Given the description of an element on the screen output the (x, y) to click on. 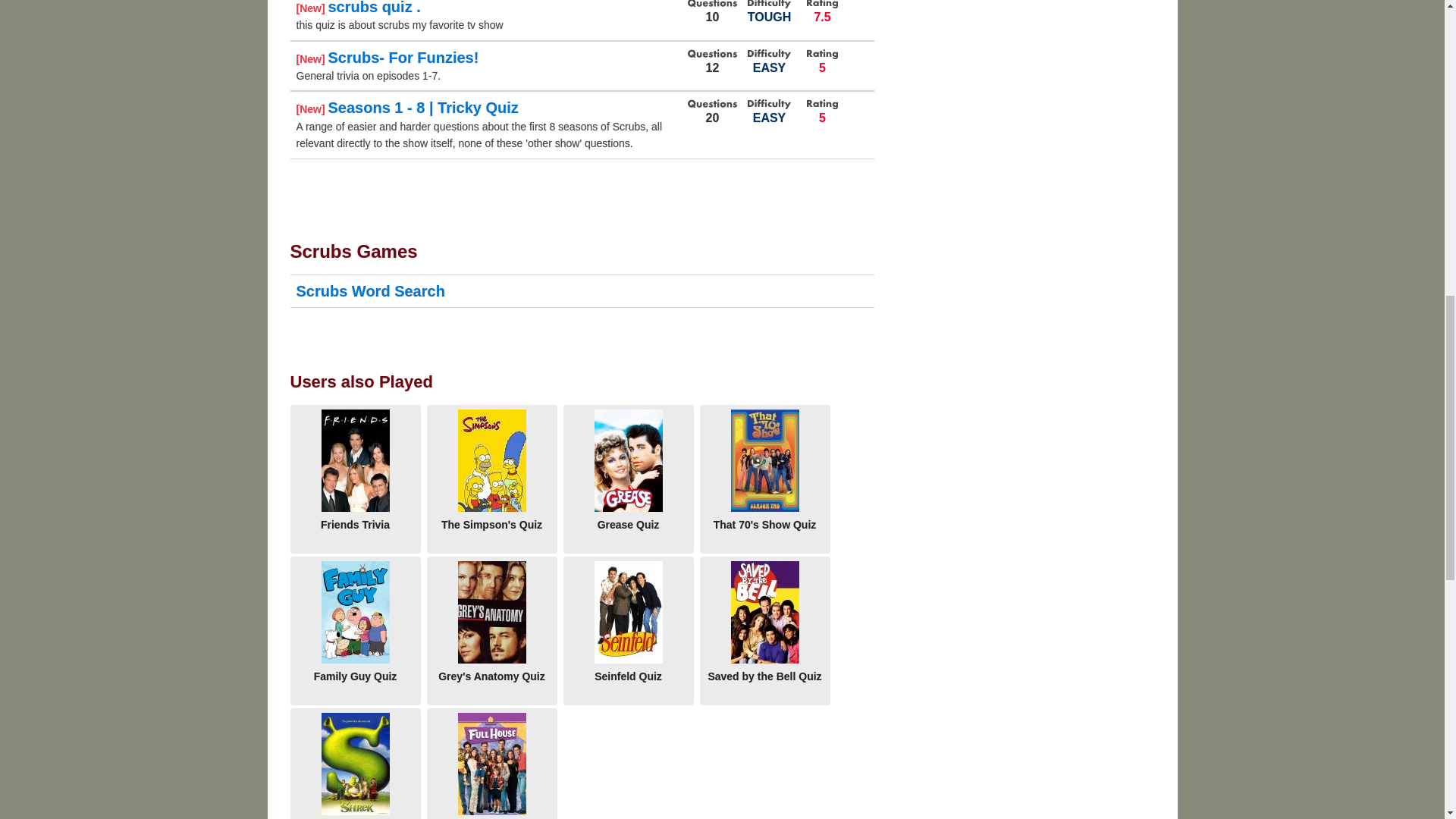
Scrubs Word Search (369, 290)
Advertisement (1031, 24)
Full House Quiz (491, 763)
scrubs quiz . (373, 7)
Shrek Quiz (354, 763)
Scrubs- For Funzies! (403, 57)
